Given the description of an element on the screen output the (x, y) to click on. 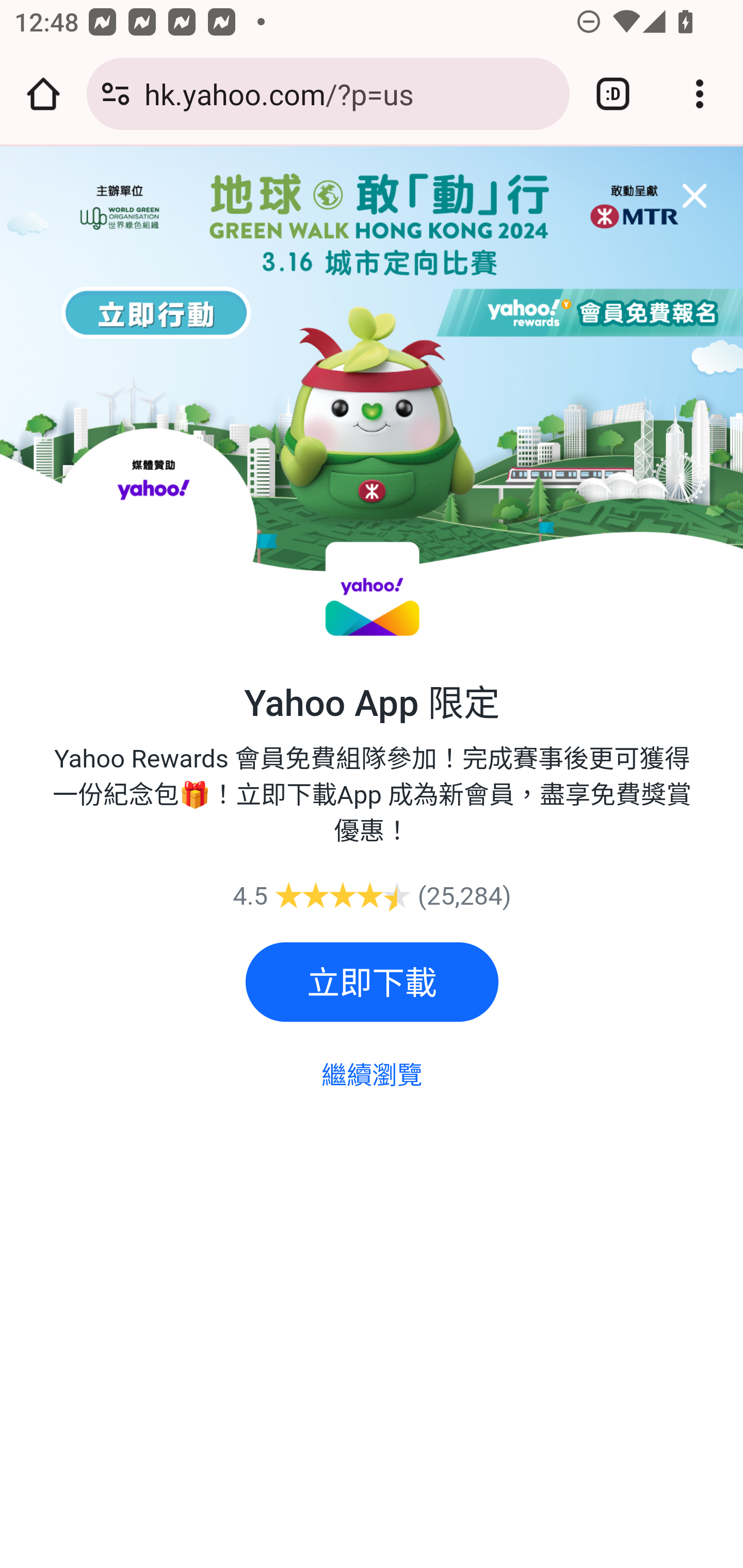
Open the home page (43, 93)
Connection is secure (115, 93)
Switch or close tabs (612, 93)
Customize and control Google Chrome (699, 93)
hk.yahoo.com/?p=us (349, 92)
member (686, 191)
